Given the description of an element on the screen output the (x, y) to click on. 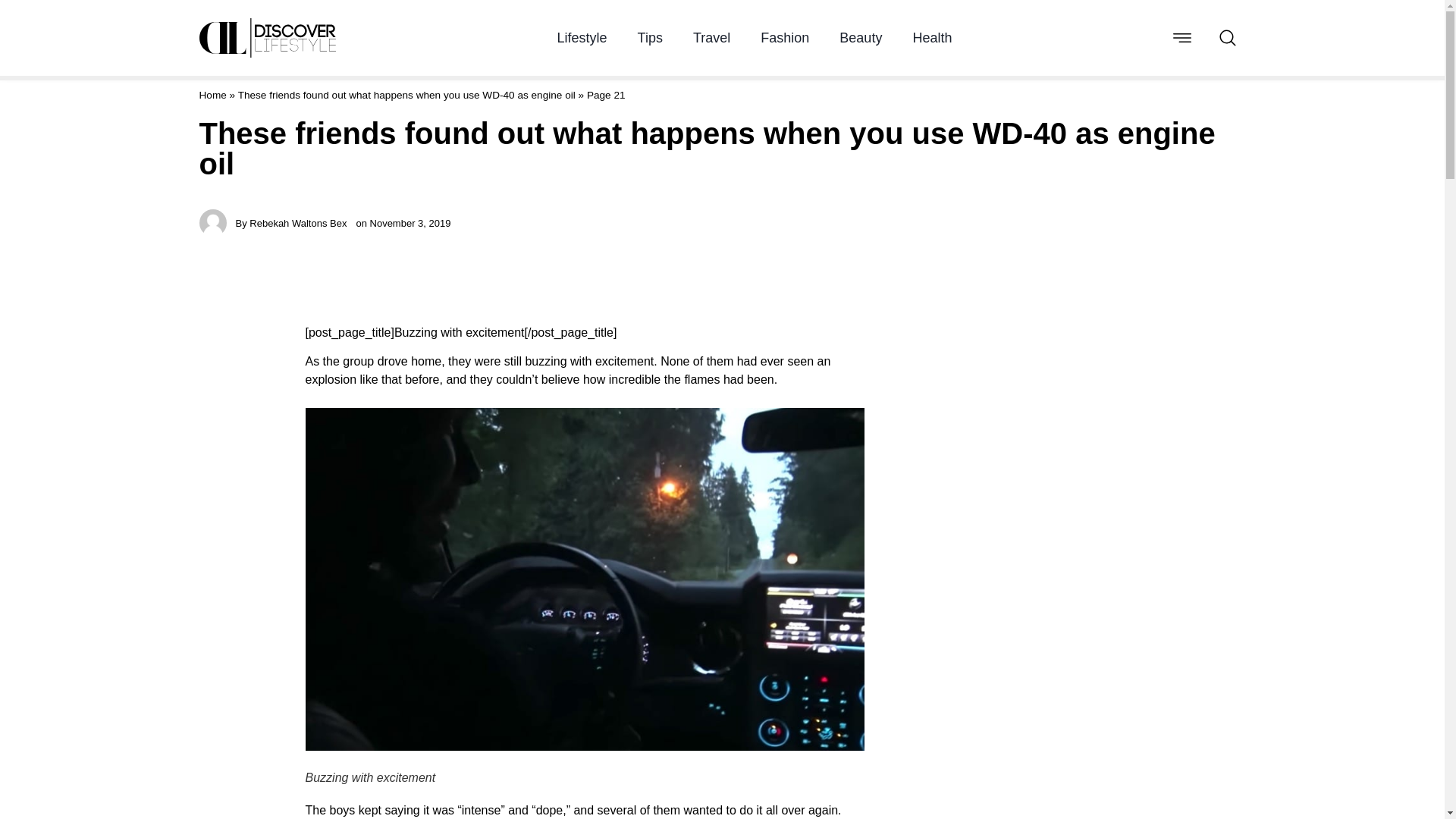
Beauty (861, 37)
Health (932, 37)
Lifestyle (582, 37)
Travel (711, 37)
Home (211, 94)
Fashion (784, 37)
